Given the description of an element on the screen output the (x, y) to click on. 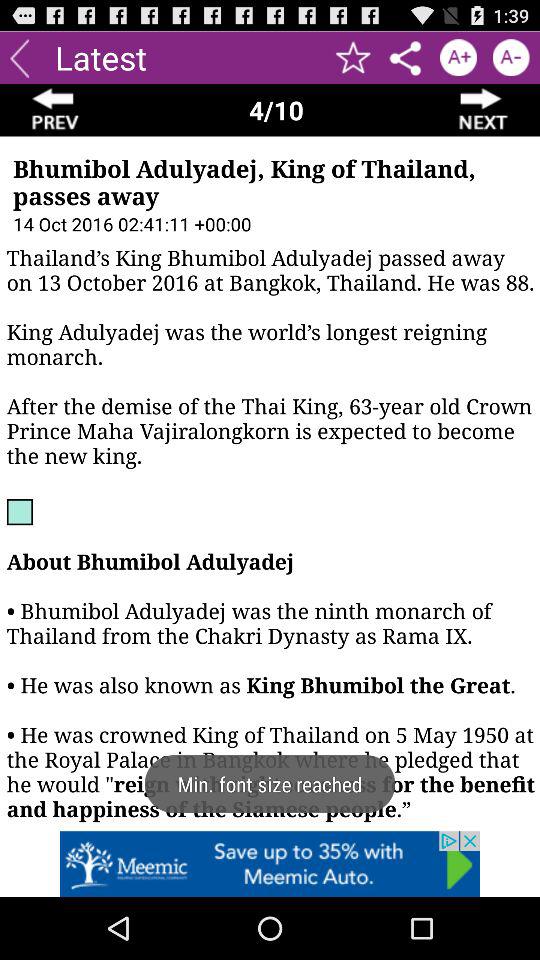
open advert (270, 864)
